Given the description of an element on the screen output the (x, y) to click on. 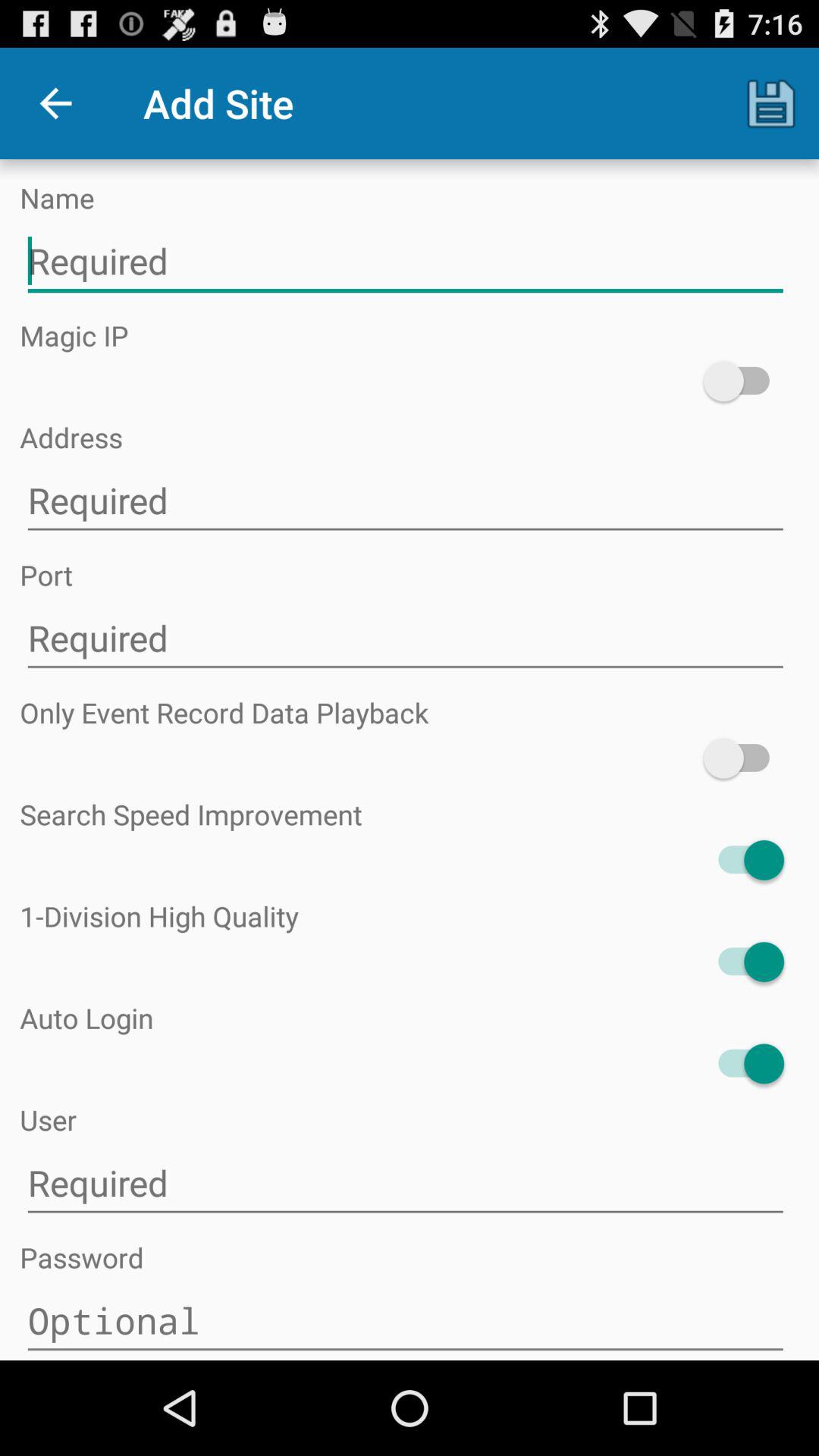
press the app to the left of the add site icon (55, 103)
